Given the description of an element on the screen output the (x, y) to click on. 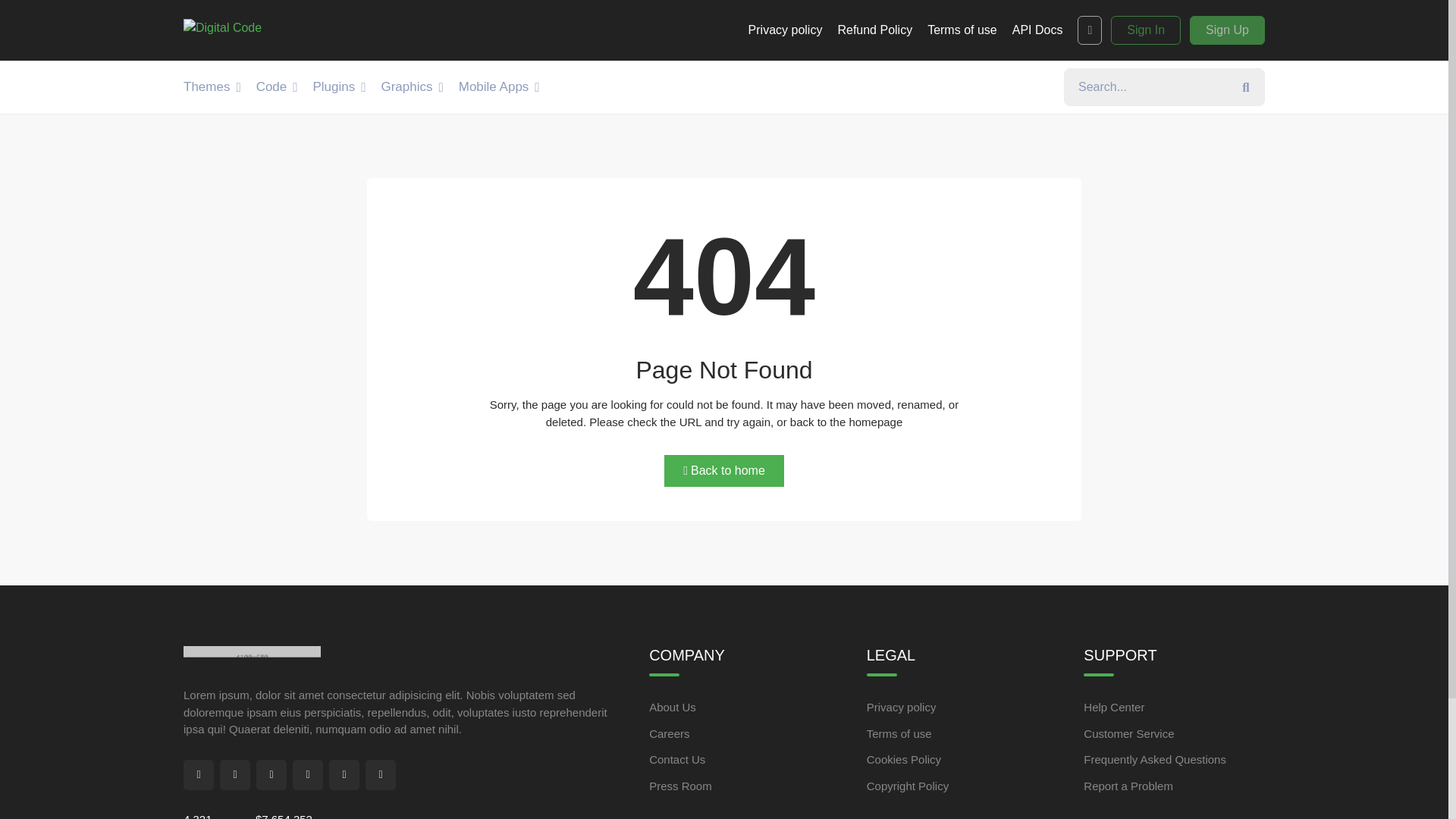
API Docs (1036, 30)
Refund Policy (874, 30)
Terms of use (962, 30)
Privacy policy (785, 30)
Sign Up (1227, 30)
Sign In (1145, 30)
